Given the description of an element on the screen output the (x, y) to click on. 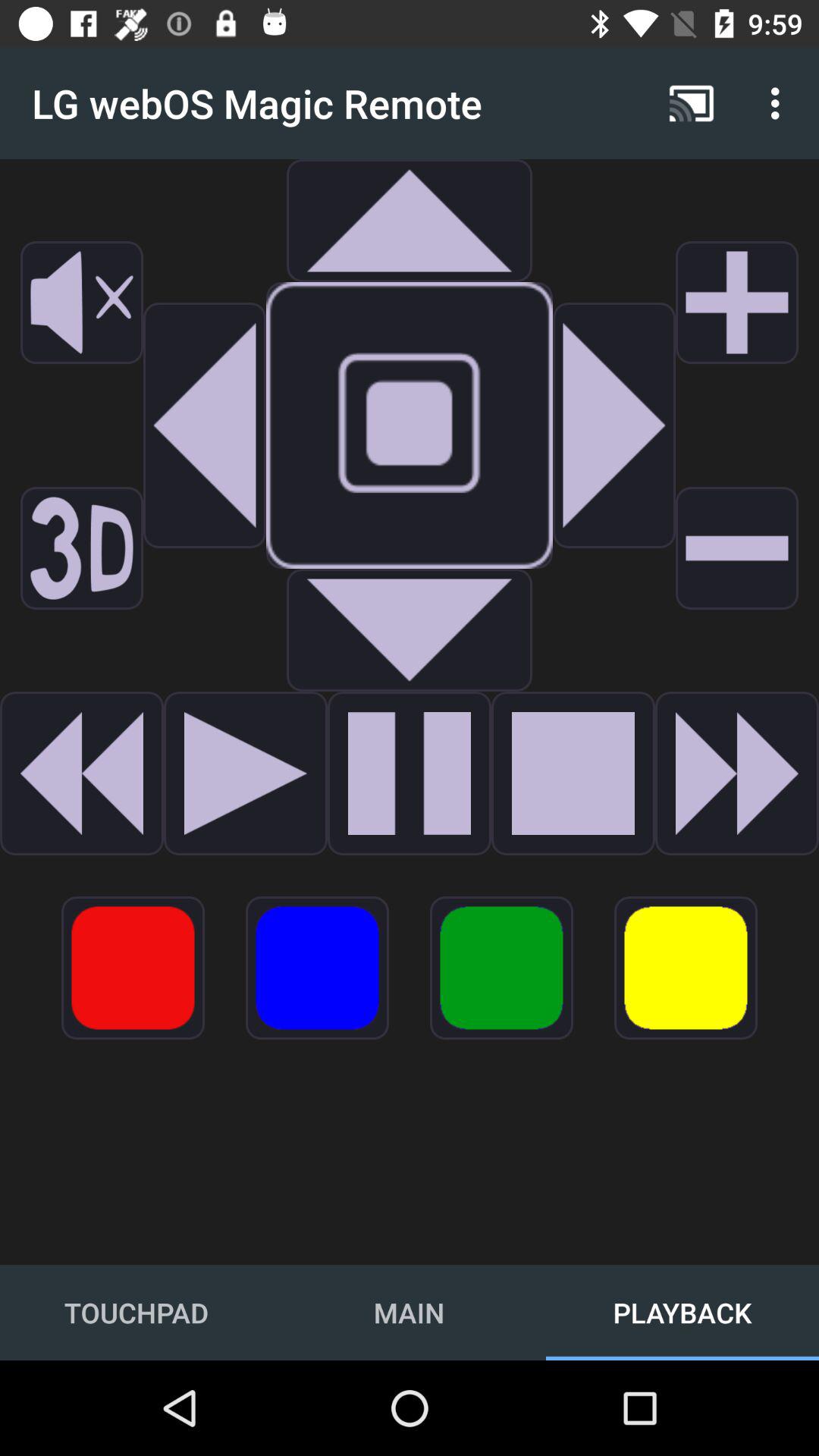
open the item below the lg webos magic item (204, 425)
